Given the description of an element on the screen output the (x, y) to click on. 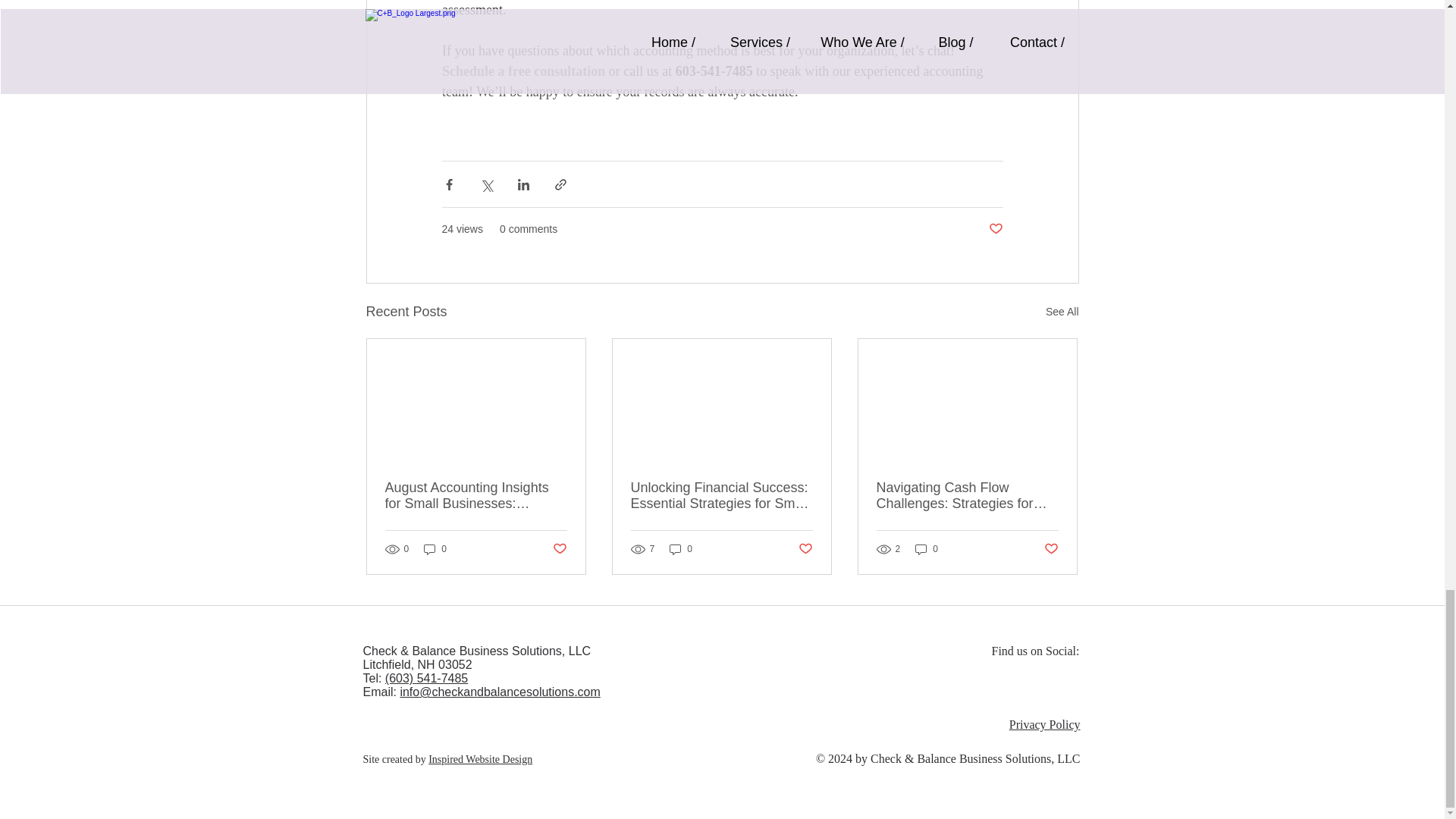
Post not marked as liked (804, 549)
Privacy Policy (1044, 724)
Inspired Website Design (480, 758)
See All (1061, 311)
0 (926, 549)
Post not marked as liked (995, 229)
0 (681, 549)
Post not marked as liked (558, 549)
